Given the description of an element on the screen output the (x, y) to click on. 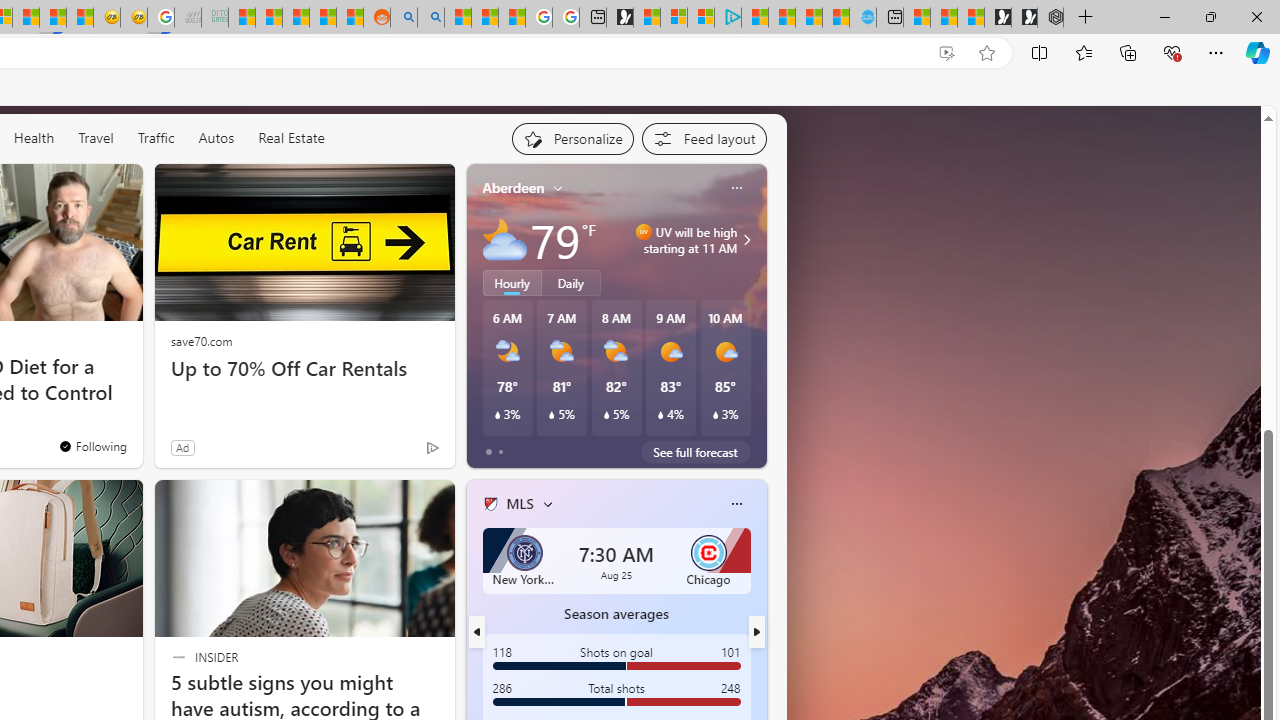
Feed settings (703, 138)
tab-0 (488, 451)
Personalize your feed" (571, 138)
Class: icon-img (736, 503)
